Given the description of an element on the screen output the (x, y) to click on. 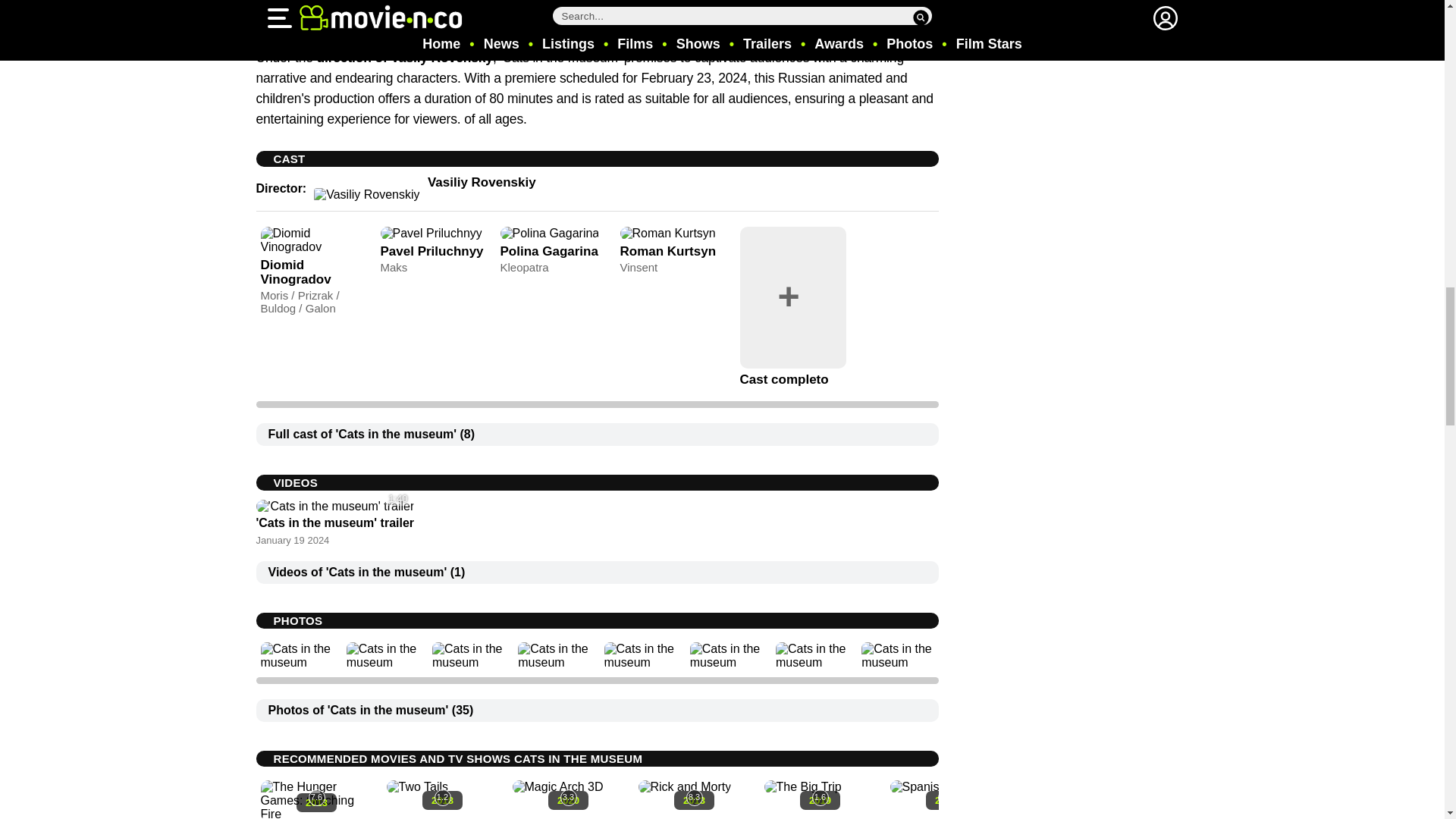
Vasiliy Rovenskiy (481, 182)
Roman Kurtsyn (668, 251)
Polina Gagarina (549, 251)
Vasiliy Rovenskiy (481, 182)
Polina Gagarina (549, 251)
Cast completo (783, 379)
Pavel Priluchnyy (431, 251)
Diomid Vinogradov (295, 271)
Roman Kurtsyn (668, 251)
'Cats in the museum' trailer (335, 521)
Pavel Priluchnyy (431, 251)
'Cats in the museum' trailer (335, 521)
Diomid Vinogradov (295, 271)
